Given the description of an element on the screen output the (x, y) to click on. 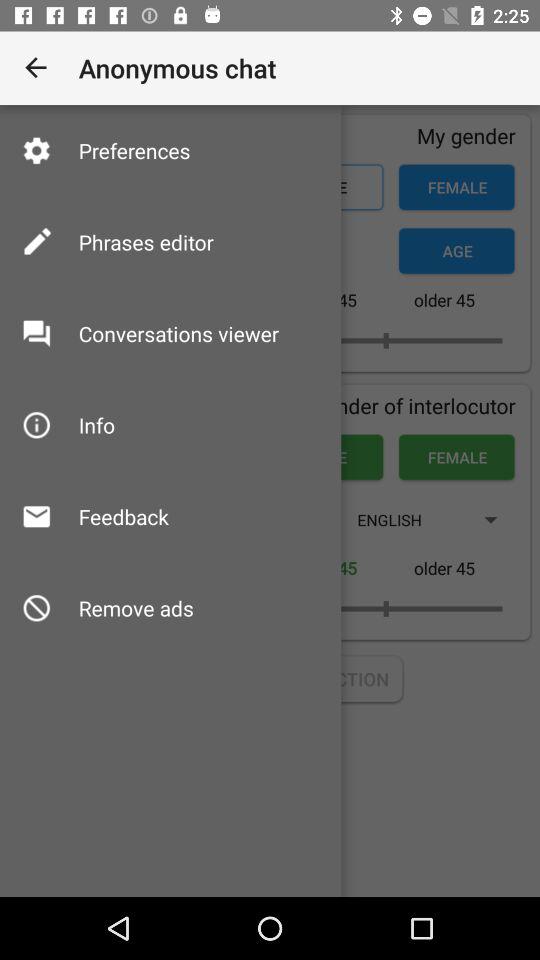
turn on icon to the left of the age item (145, 241)
